Given the description of an element on the screen output the (x, y) to click on. 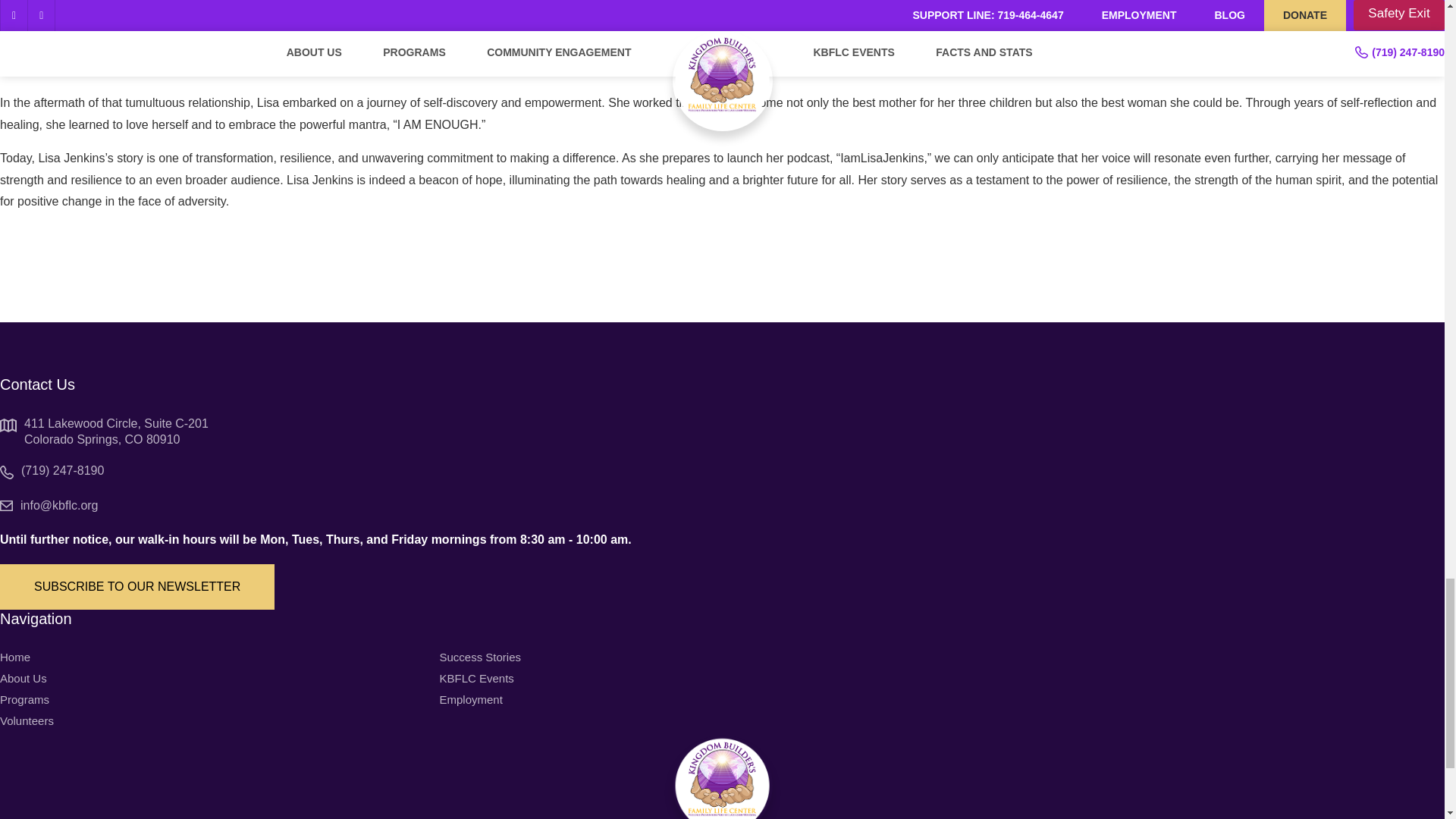
Home (15, 657)
Success Stories (480, 657)
About Us (23, 678)
SUBSCRIBE TO OUR NEWSLETTER (137, 586)
Programs (24, 699)
Volunteers (26, 721)
Employment (470, 699)
KBFLC Events (476, 678)
